Given the description of an element on the screen output the (x, y) to click on. 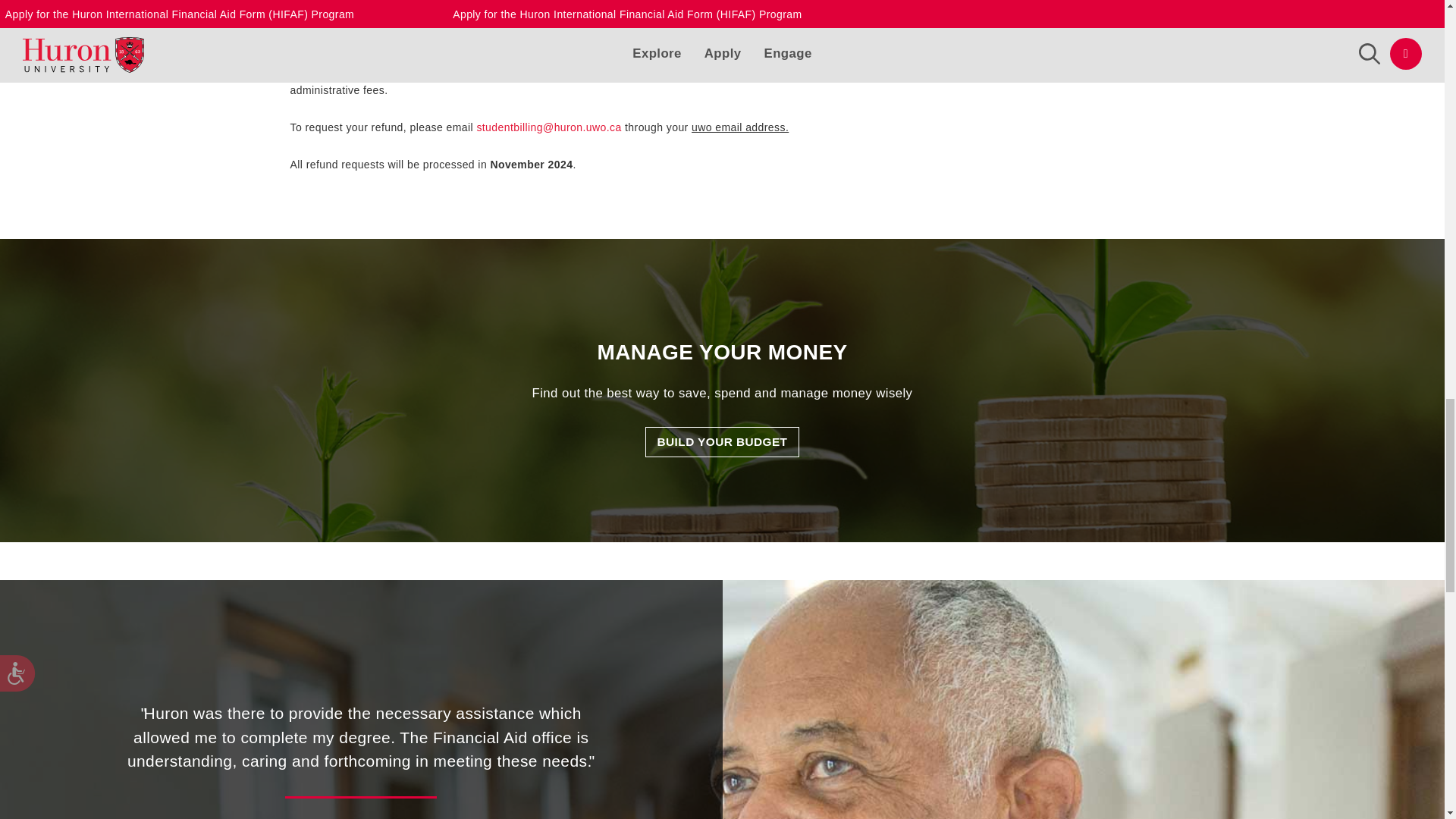
BUILD YOUR BUDGET (722, 441)
Build Your Budget (722, 441)
